Given the description of an element on the screen output the (x, y) to click on. 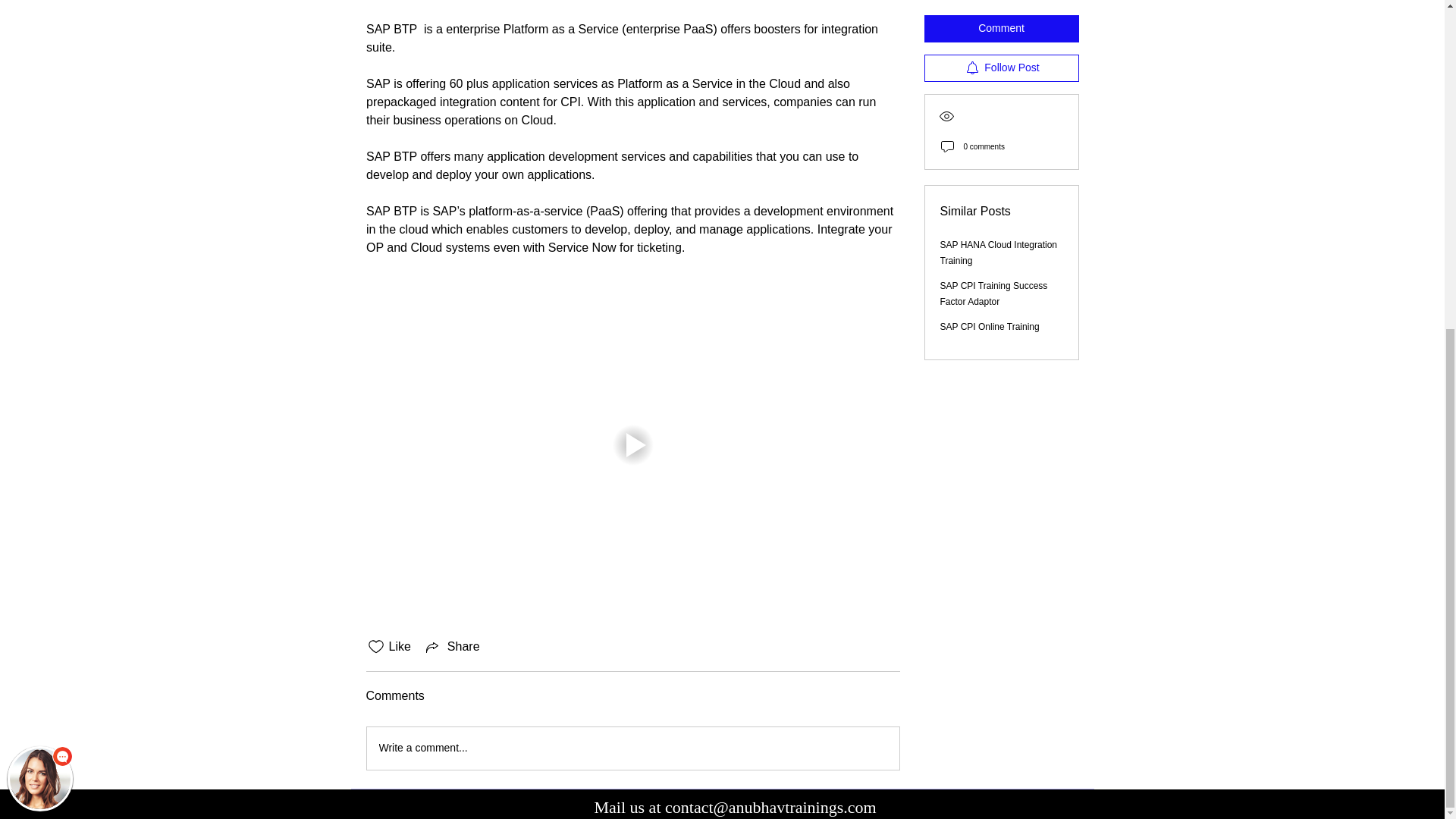
SAP CPI Online Training (989, 7)
Write a comment... (632, 748)
Share (451, 647)
